Given the description of an element on the screen output the (x, y) to click on. 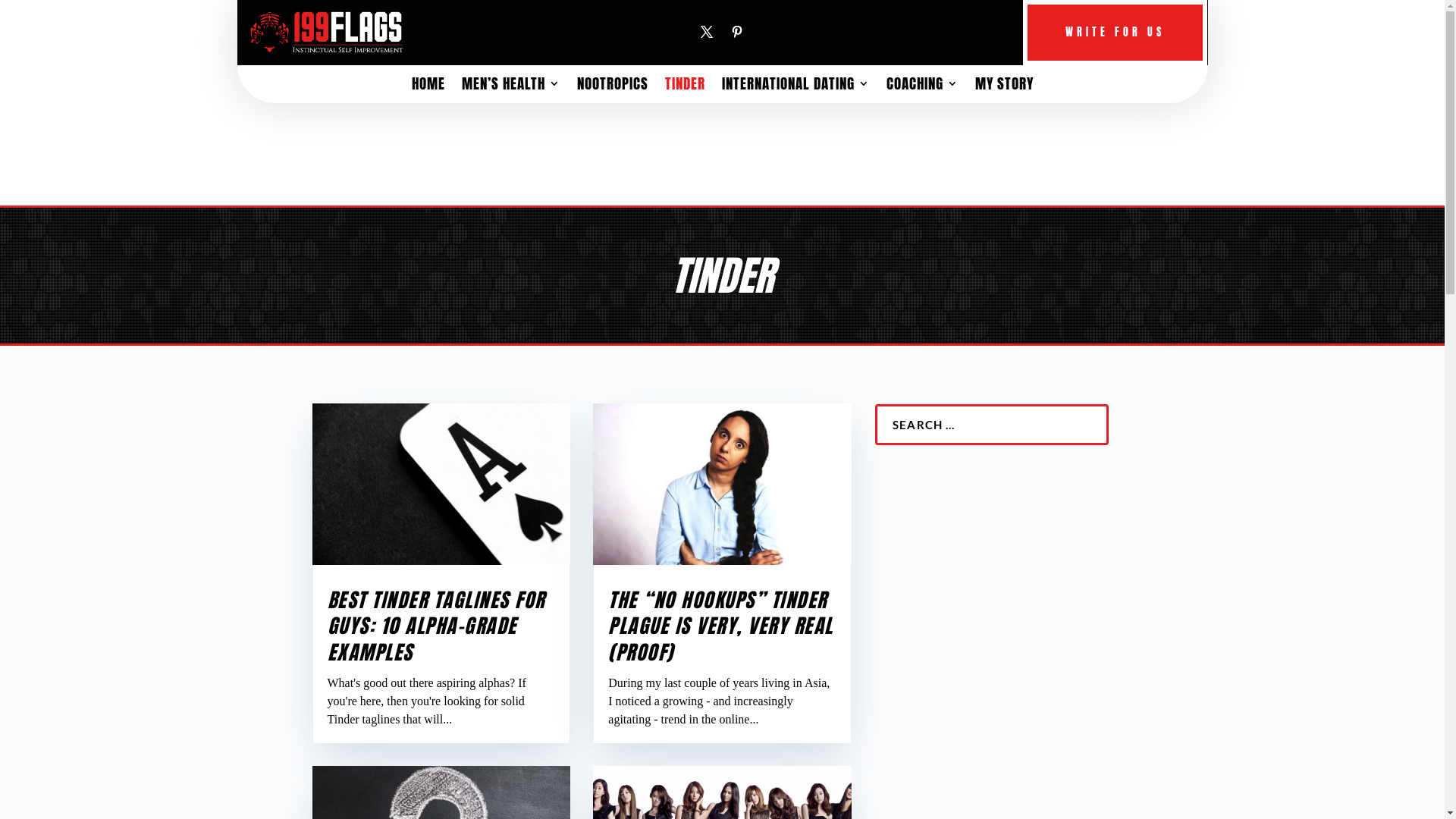
INTERNATIONAL DATING Element type: text (795, 86)
MY STORY Element type: text (1004, 86)
COACHING Element type: text (921, 86)
HOME Element type: text (427, 86)
WRITE FOR US Element type: text (1114, 32)
199 red logo Element type: hover (325, 31)
NOOTROPICS Element type: text (611, 86)
Follow on Pinterest Element type: hover (736, 31)
BEST TINDER TAGLINES FOR GUYS: 10 ALPHA-GRADE EXAMPLES Element type: text (436, 626)
Search Element type: text (29, 14)
Follow on X Element type: hover (706, 31)
TINDER Element type: text (684, 86)
